Given the description of an element on the screen output the (x, y) to click on. 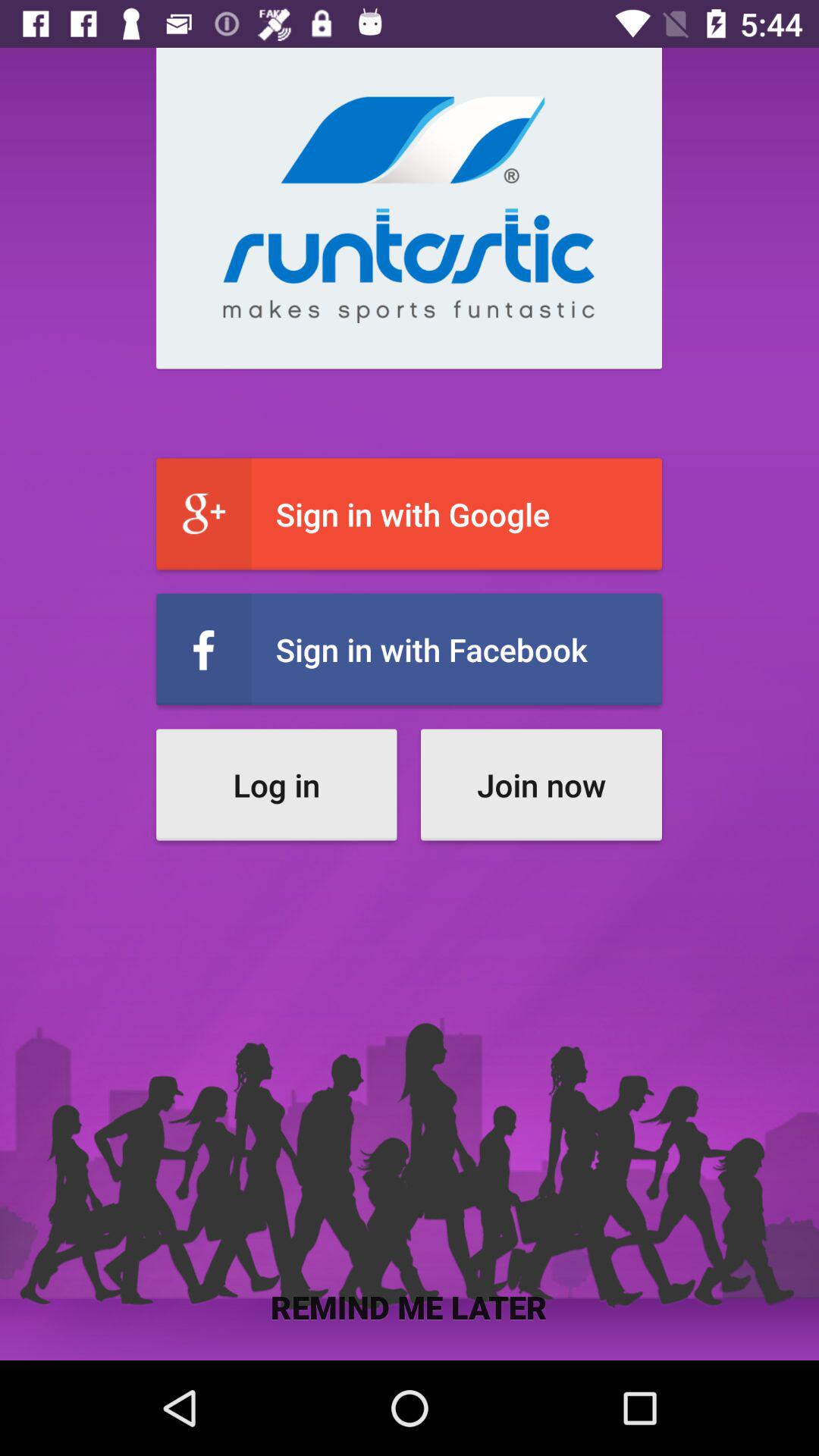
press the item below the sign in with item (276, 784)
